Given the description of an element on the screen output the (x, y) to click on. 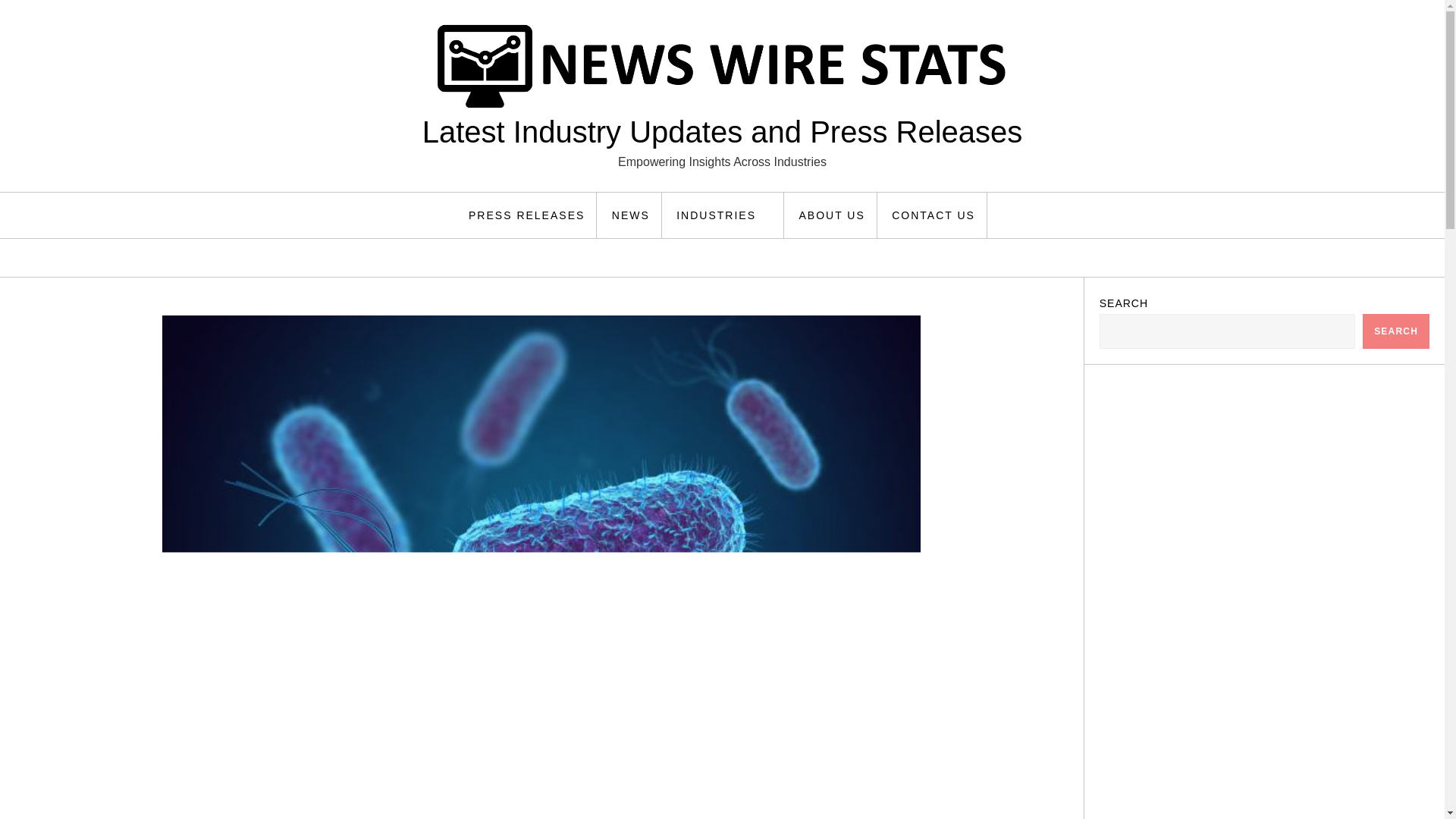
SEARCH (1395, 330)
PRESS RELEASES (526, 215)
INDUSTRIES (724, 215)
ABOUT US (831, 215)
NEWS (630, 215)
CONTACT US (933, 215)
Latest Industry Updates and Press Releases (722, 131)
